Given the description of an element on the screen output the (x, y) to click on. 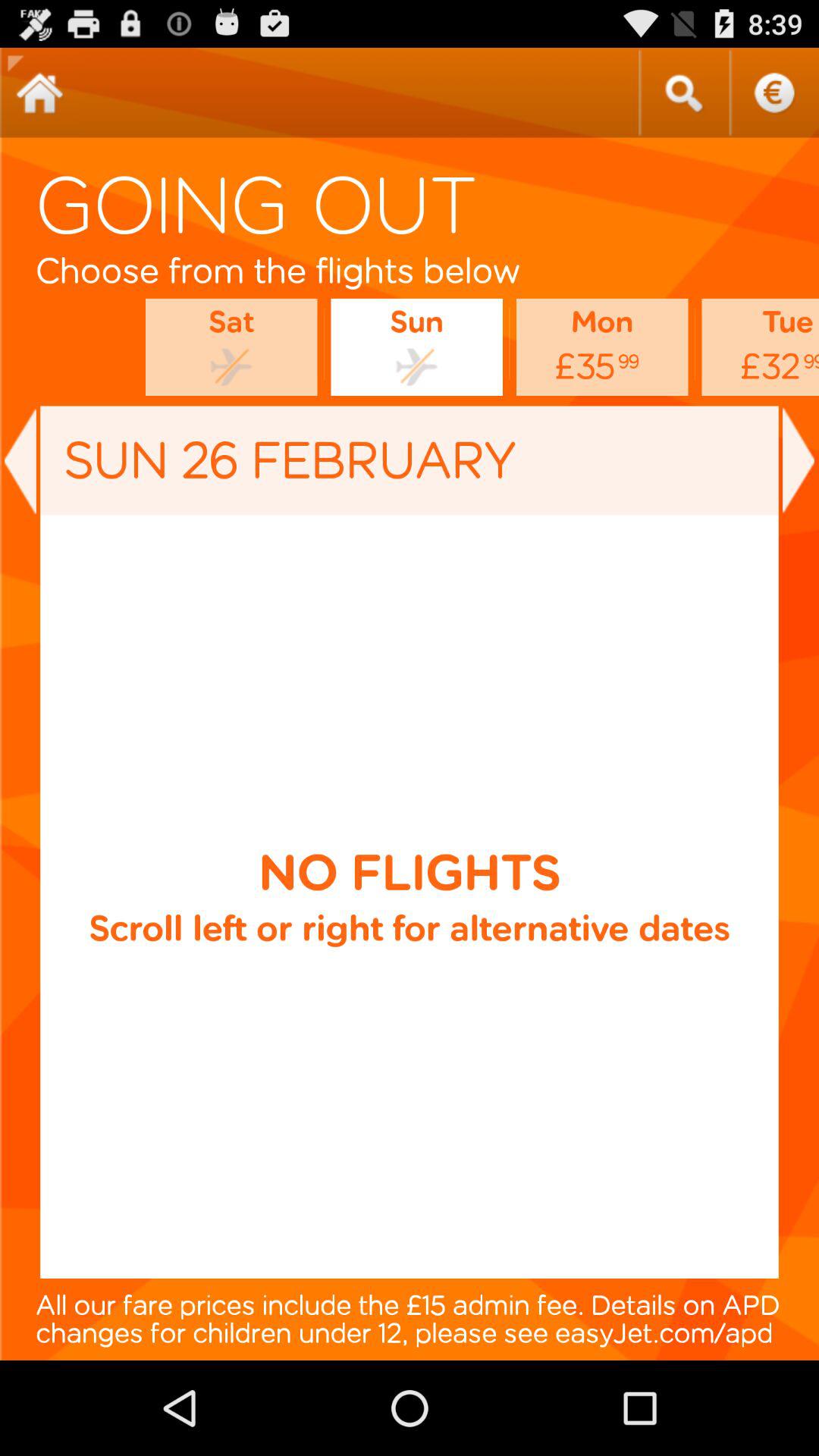
currency button (774, 92)
